Given the description of an element on the screen output the (x, y) to click on. 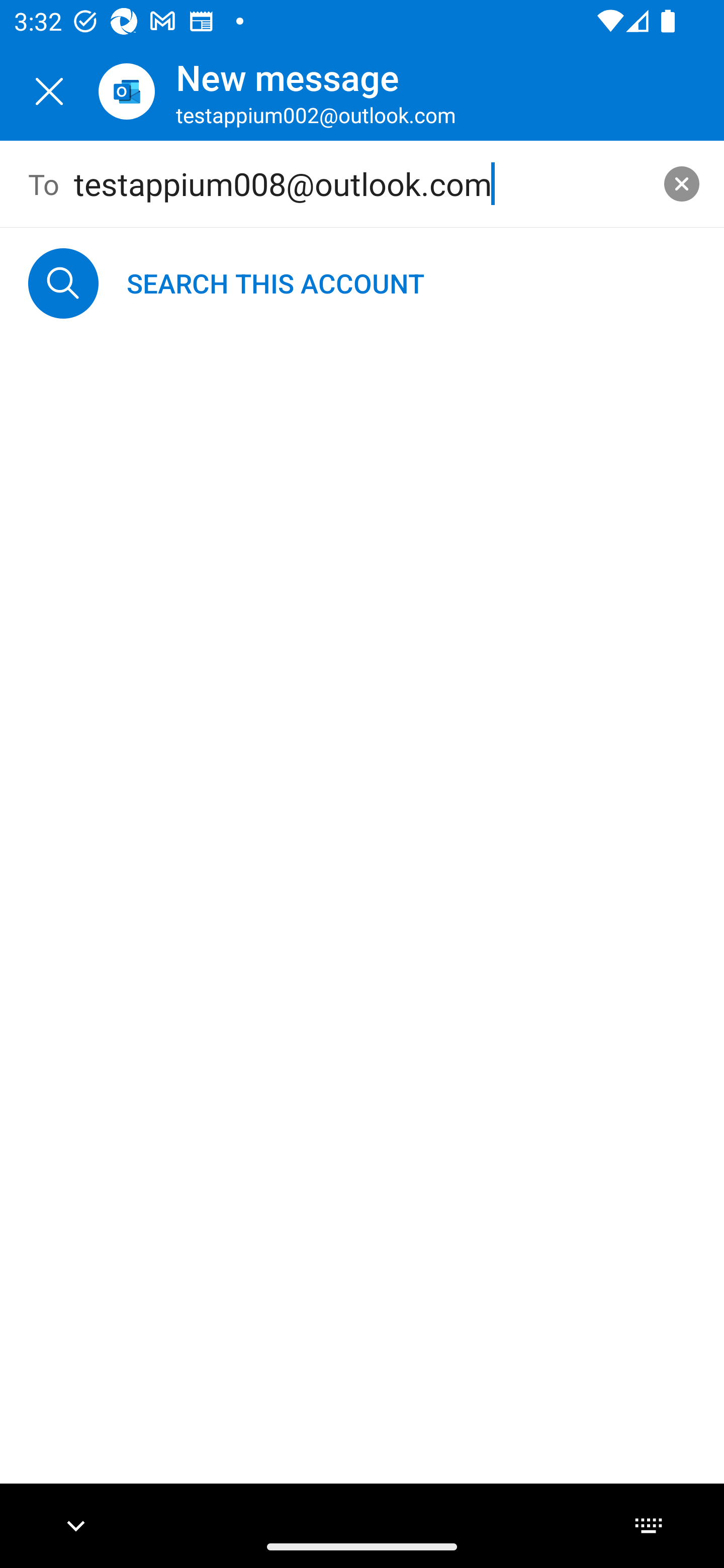
Close (49, 91)
testappium008@outlook.com (362, 184)
clear search (681, 183)
